Given the description of an element on the screen output the (x, y) to click on. 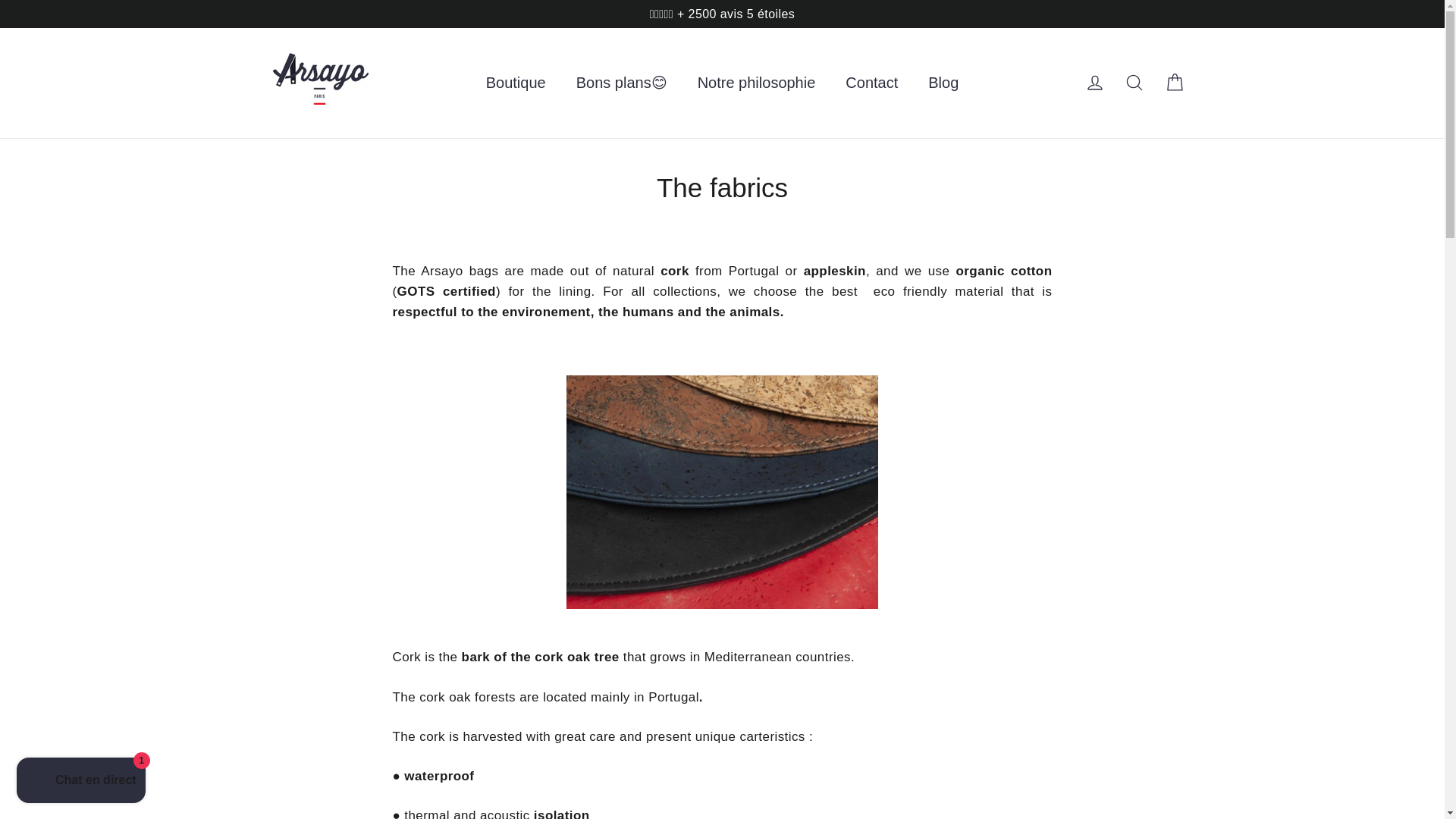
Blog (943, 82)
Panier (1173, 82)
Contact (870, 82)
Boutique (515, 82)
Se connecter (1095, 82)
Notre philosophie (756, 82)
Recherche (1134, 82)
Chat de la boutique en ligne Shopify (80, 781)
